Given the description of an element on the screen output the (x, y) to click on. 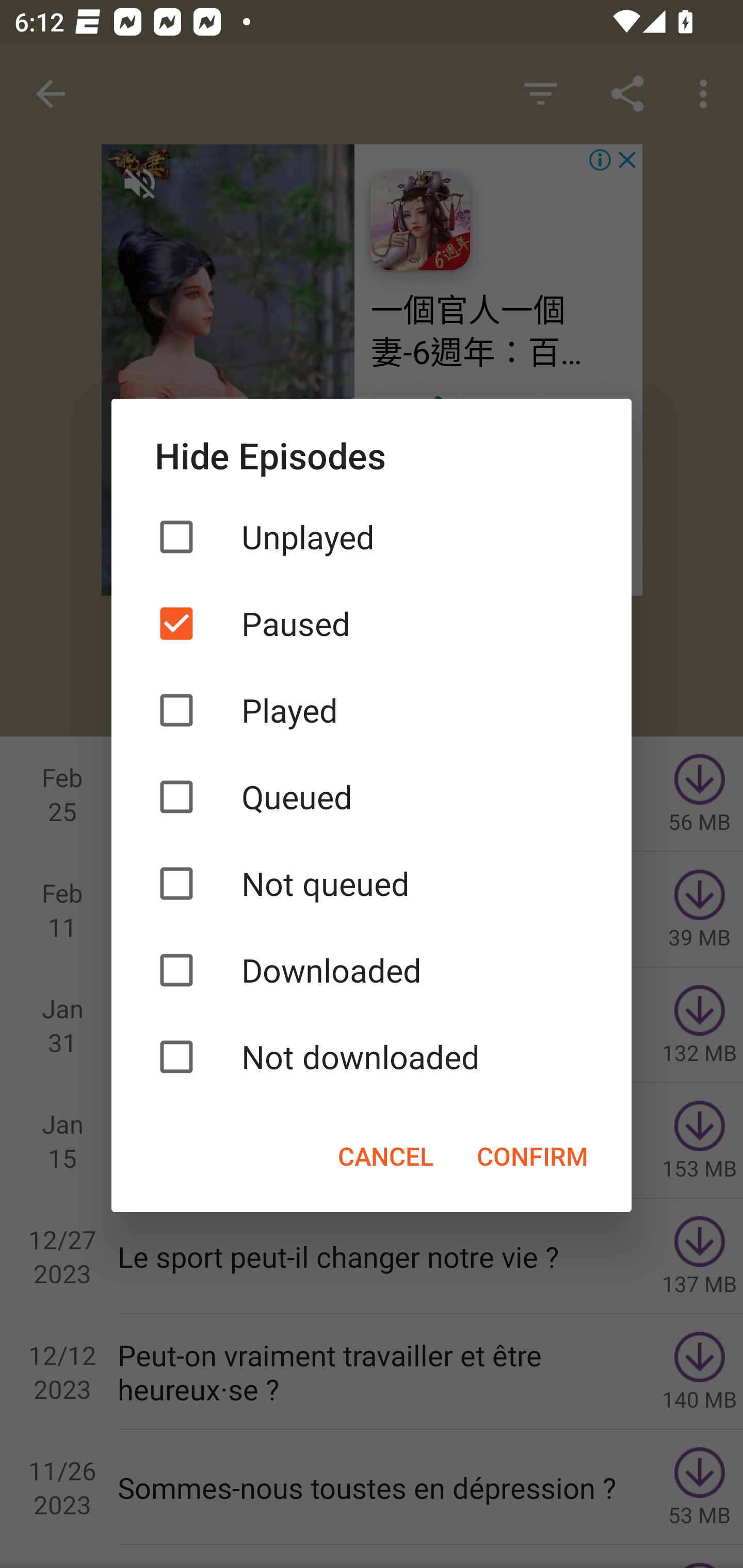
Unplayed (371, 536)
Paused (371, 623)
Played (371, 710)
Queued (371, 797)
Not queued (371, 883)
Downloaded (371, 969)
Not downloaded (371, 1056)
CANCEL (385, 1155)
CONFIRM (532, 1155)
